Given the description of an element on the screen output the (x, y) to click on. 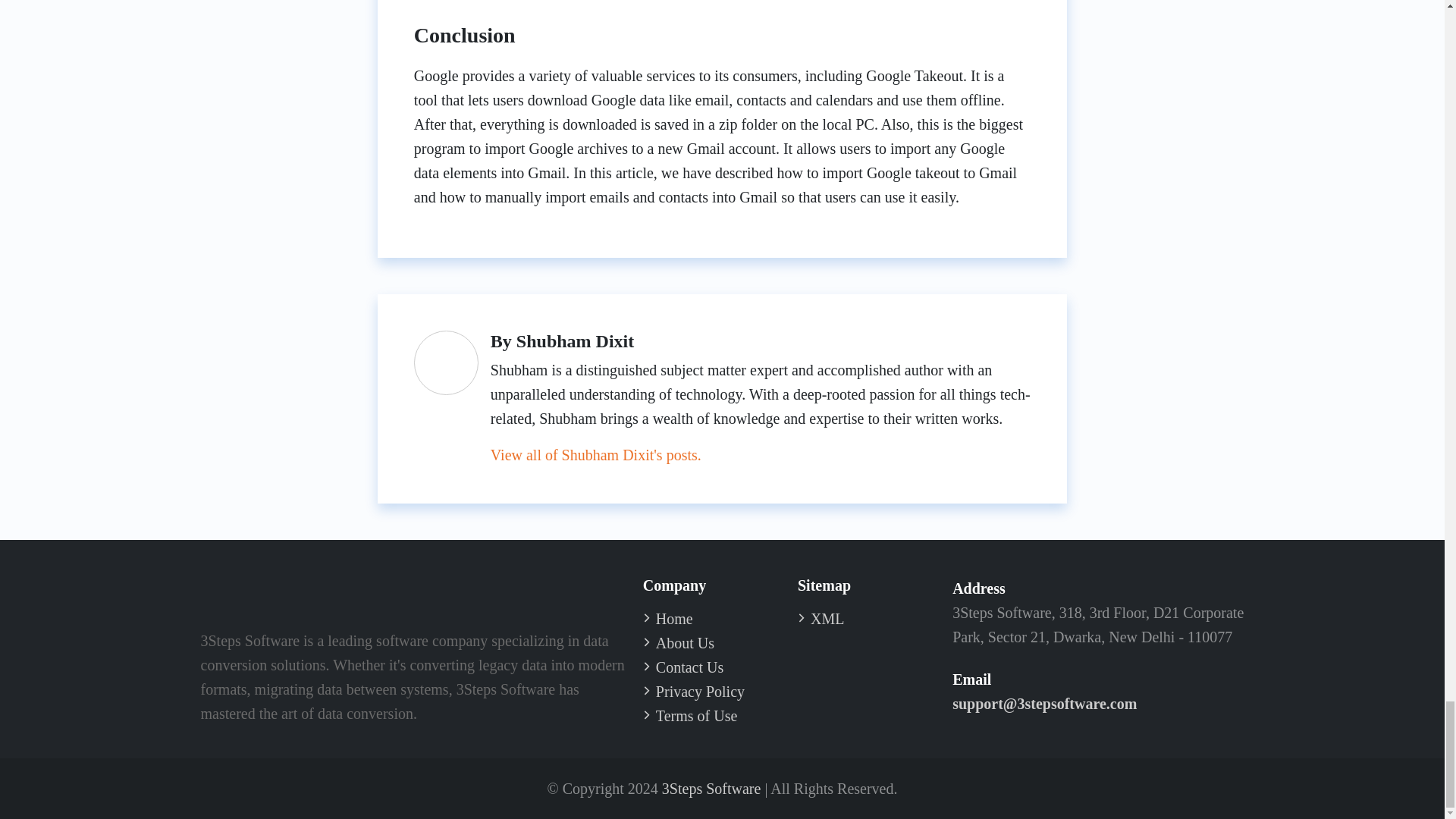
Terms of Use (696, 715)
XML (827, 618)
Contact Us (689, 667)
Privacy Policy (700, 691)
View all of Shubham Dixit's posts. (595, 454)
About Us (685, 642)
3Steps Software (711, 788)
Home (674, 618)
